Given the description of an element on the screen output the (x, y) to click on. 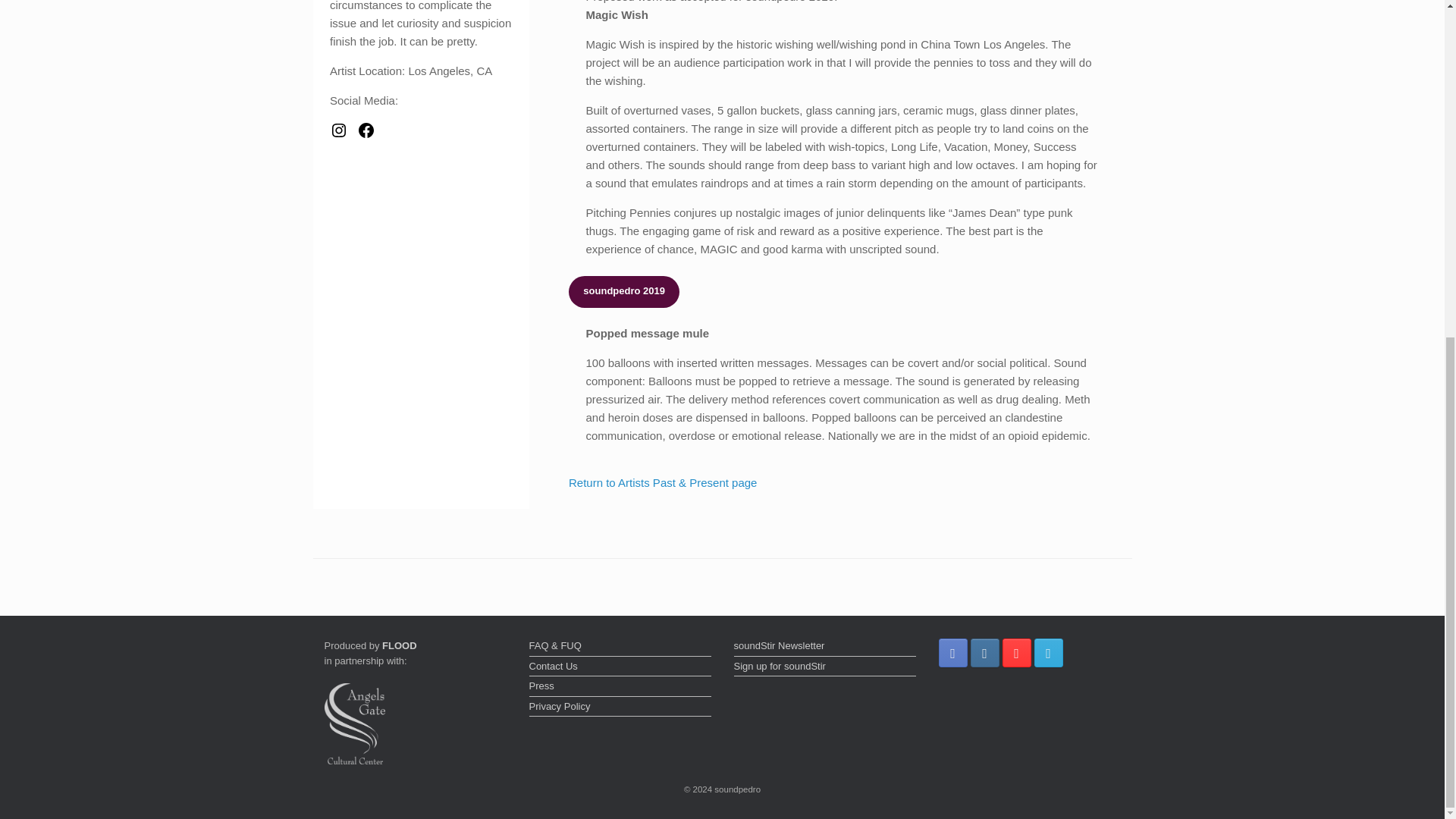
Press (620, 687)
Privacy Policy (620, 708)
soundpedro 2019 (624, 291)
soundpedro Instagram (984, 652)
Instagram (338, 130)
soundpedro Facebook (953, 652)
soundpedro YouTube (1016, 652)
soundpedro Email (1047, 652)
FLOOD (398, 645)
Facebook (365, 130)
Contact Us (620, 668)
